Given the description of an element on the screen output the (x, y) to click on. 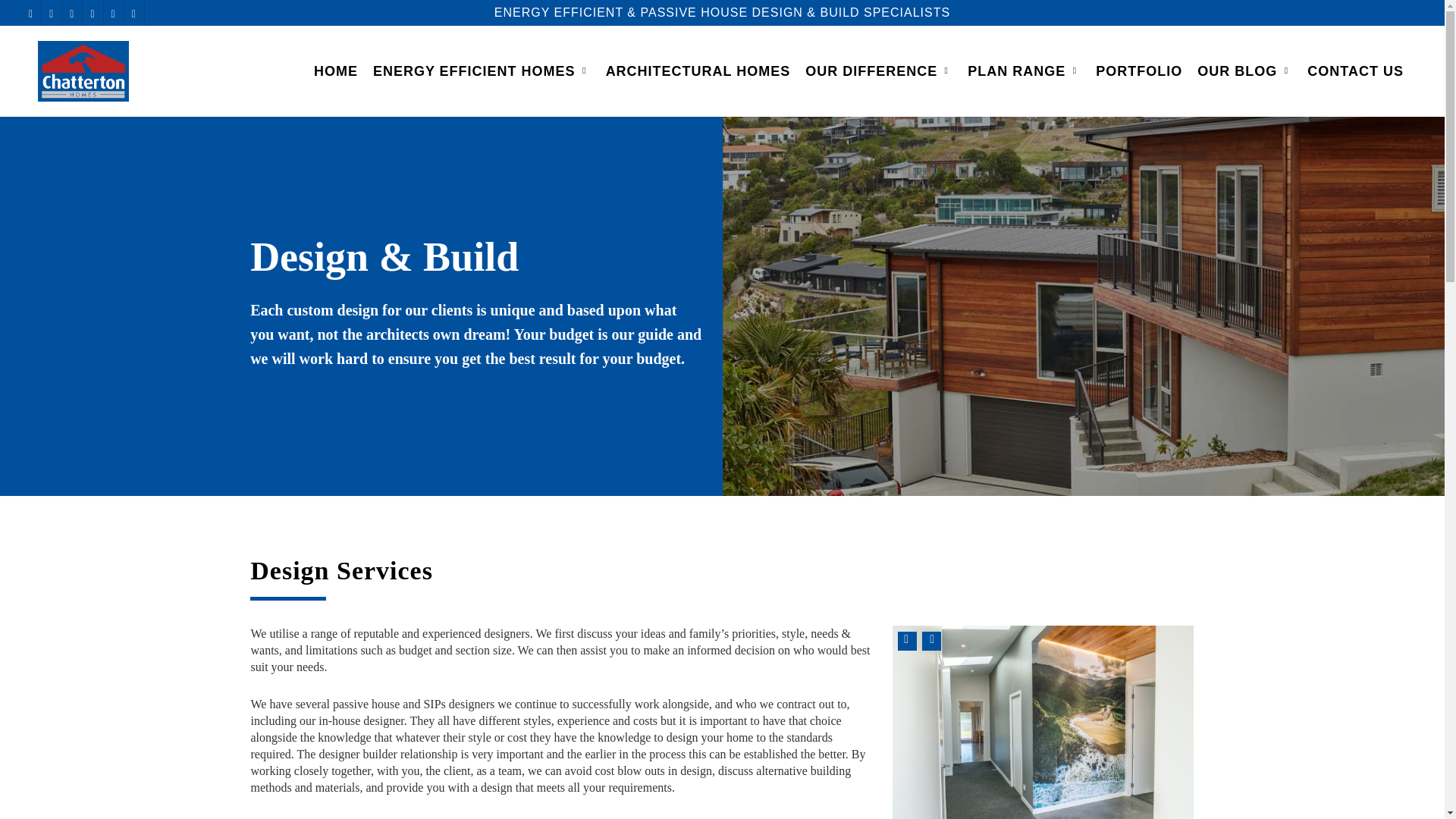
PORTFOLIO (1138, 71)
OUR BLOG (1244, 71)
HOME (335, 71)
ENERGY EFFICIENT HOMES (481, 71)
OUR DIFFERENCE (878, 71)
PLAN RANGE (1023, 71)
ARCHITECTURAL HOMES (697, 71)
